Given the description of an element on the screen output the (x, y) to click on. 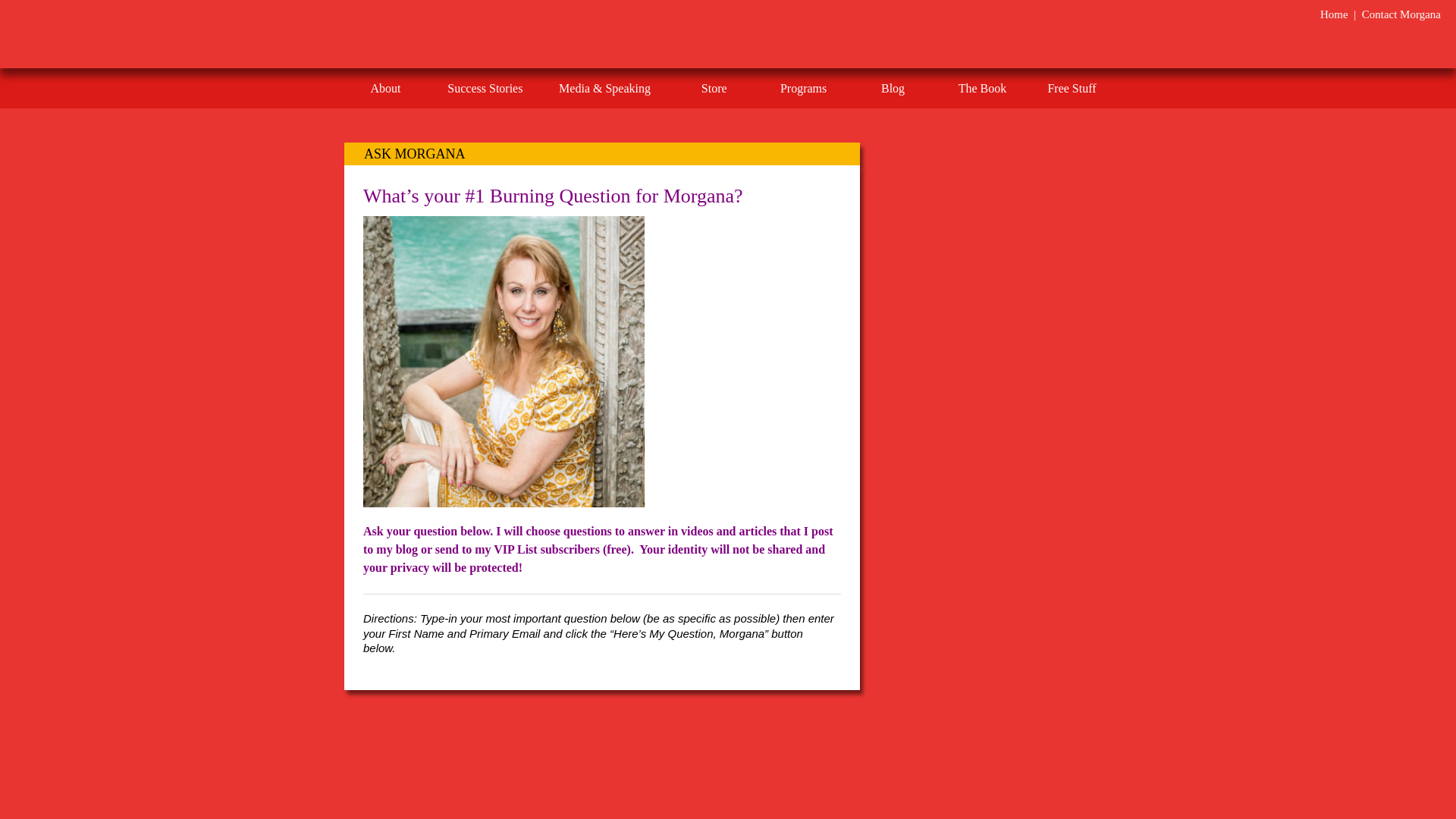
Blog (892, 87)
About (384, 87)
Store (713, 87)
Home (1334, 14)
Contact Morgana (1401, 14)
Success Stories (485, 87)
Programs (802, 87)
Free Stuff (1071, 87)
The Book (981, 87)
